Given the description of an element on the screen output the (x, y) to click on. 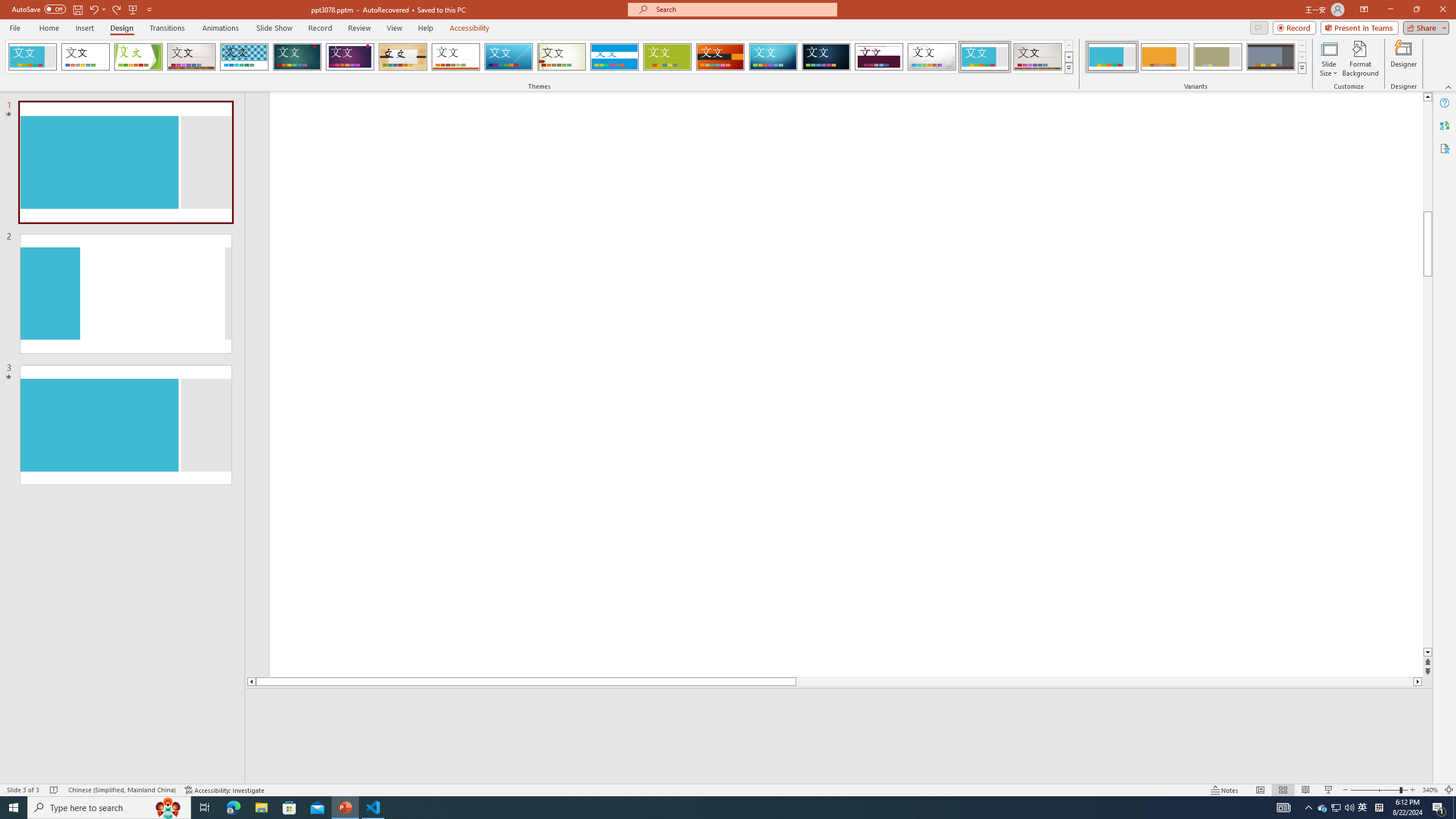
Basis (667, 56)
